Given the description of an element on the screen output the (x, y) to click on. 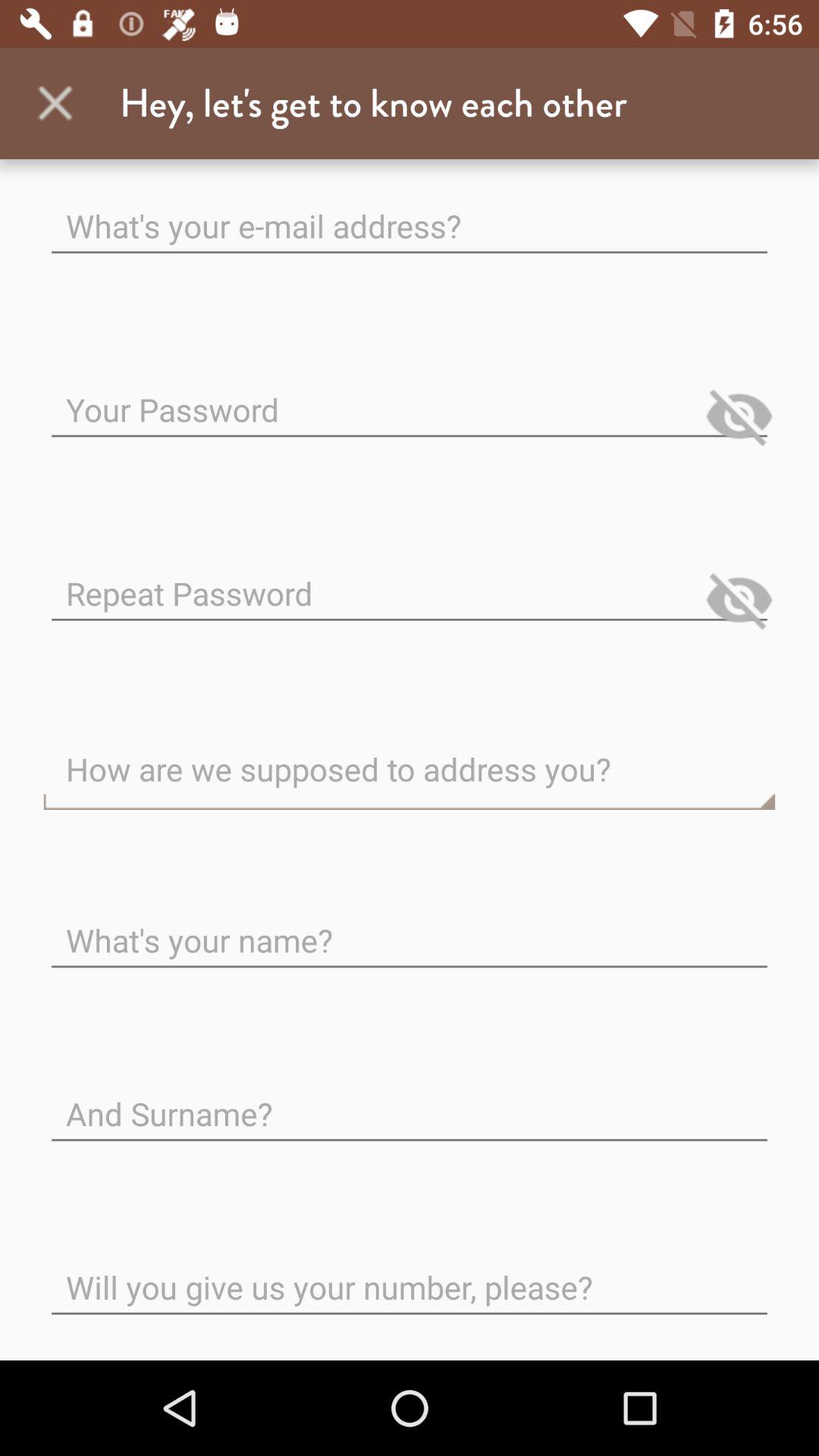
tap the app next to the hey let s app (55, 103)
